Given the description of an element on the screen output the (x, y) to click on. 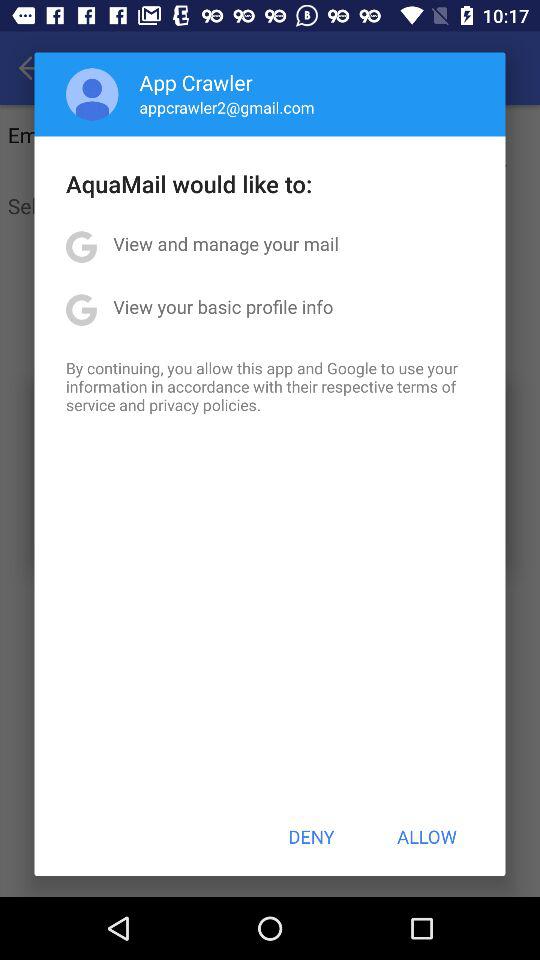
click app crawler icon (195, 82)
